Given the description of an element on the screen output the (x, y) to click on. 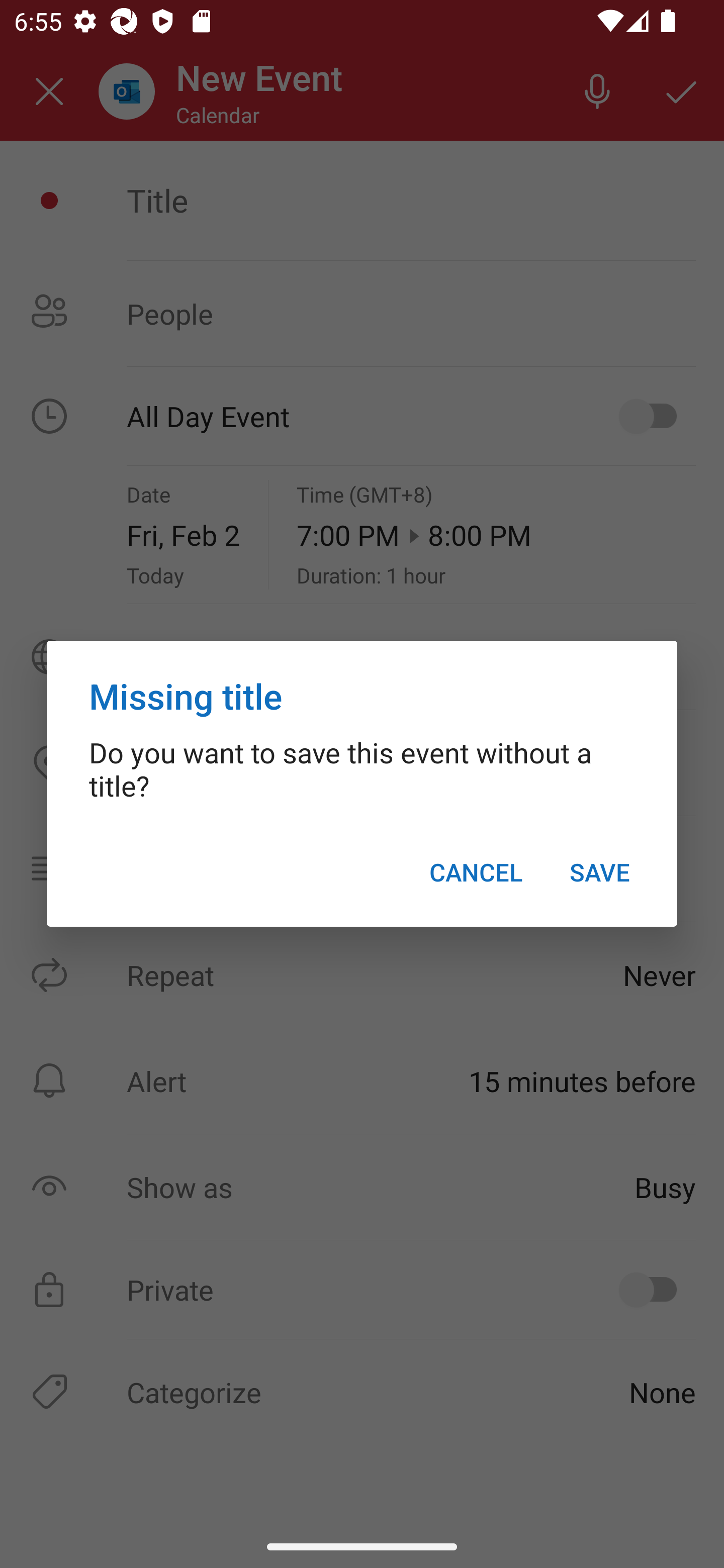
CANCEL (475, 872)
SAVE (599, 872)
